Given the description of an element on the screen output the (x, y) to click on. 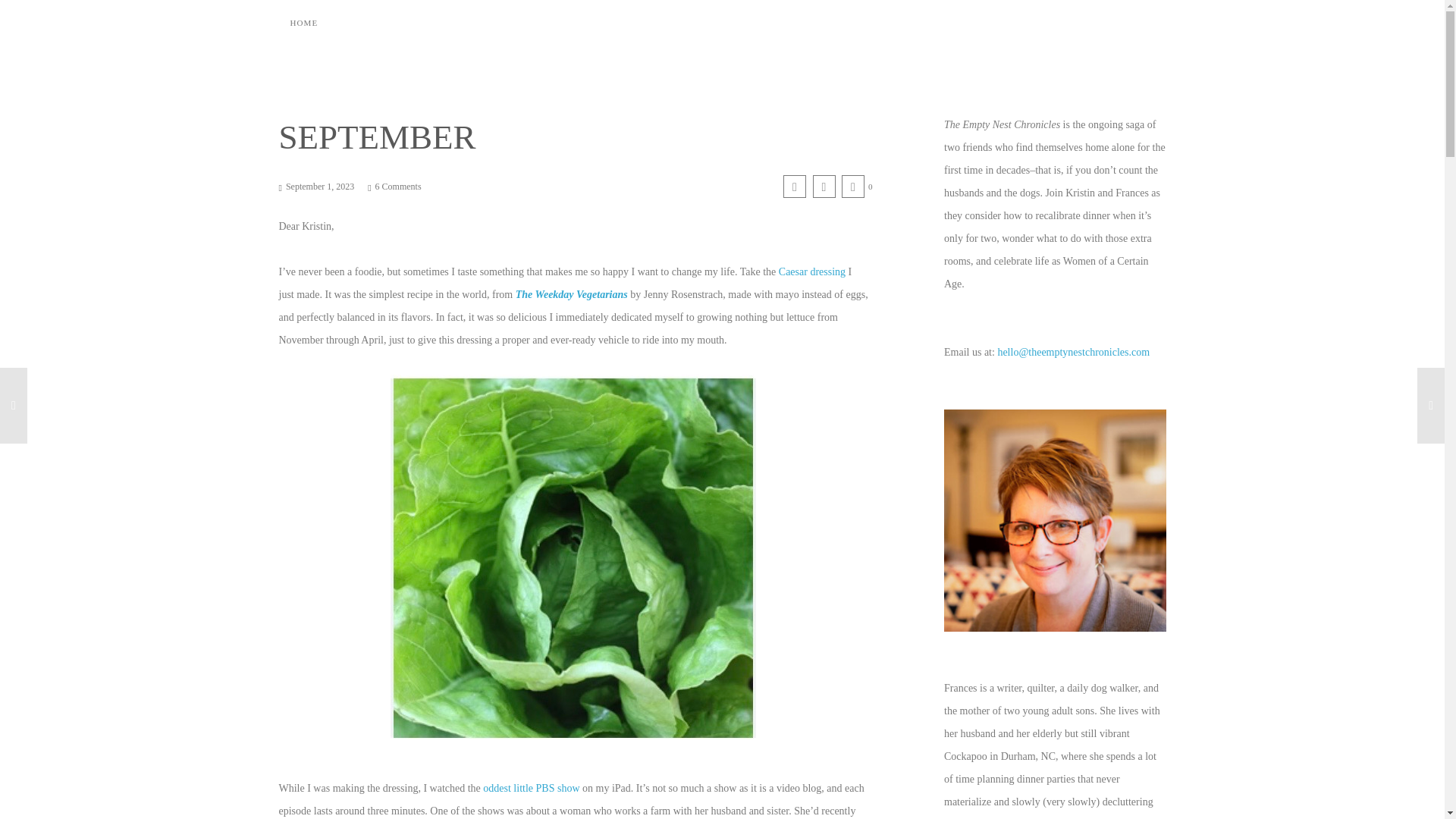
Caesar dressing (813, 271)
September (794, 186)
September (823, 186)
oddest little PBS show (531, 787)
The Weekday Vegetarians (571, 294)
6 Comments (394, 185)
